Given the description of an element on the screen output the (x, y) to click on. 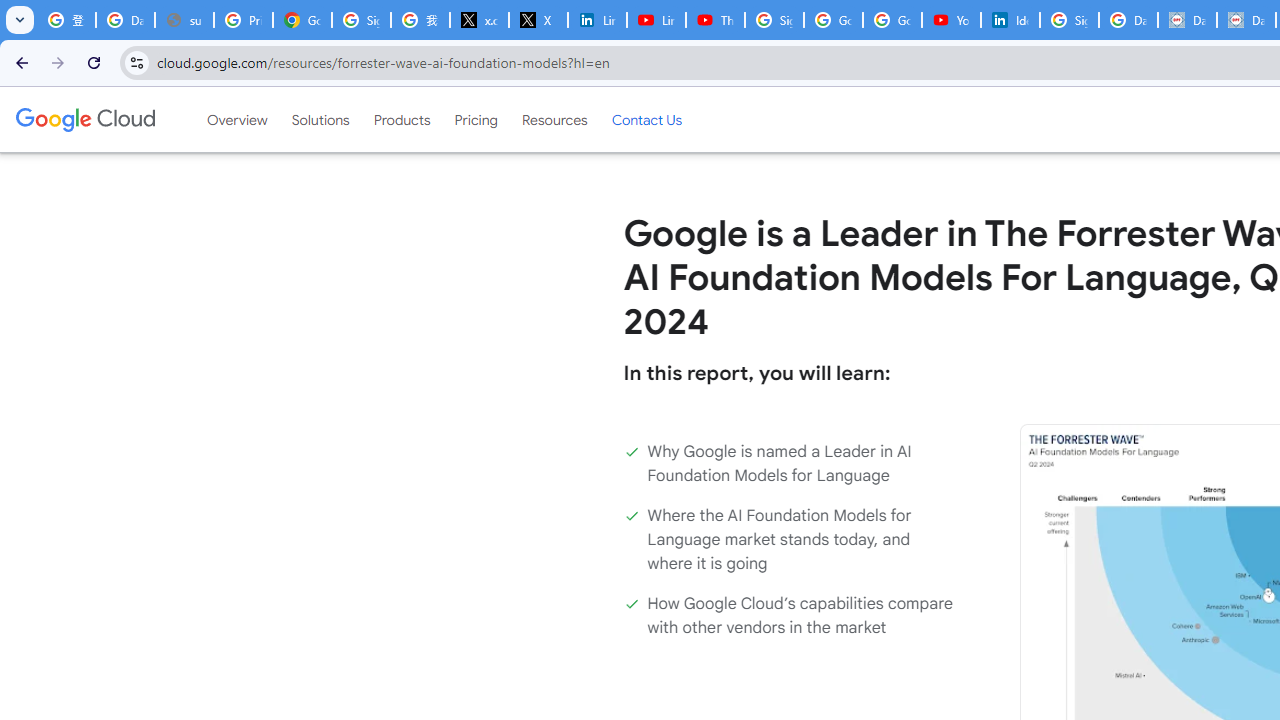
Resources (553, 119)
Products (401, 119)
Identity verification via Persona | LinkedIn Help (1010, 20)
LinkedIn Privacy Policy (597, 20)
X (538, 20)
Sign in - Google Accounts (774, 20)
Pricing (476, 119)
Contact Us (646, 119)
